Given the description of an element on the screen output the (x, y) to click on. 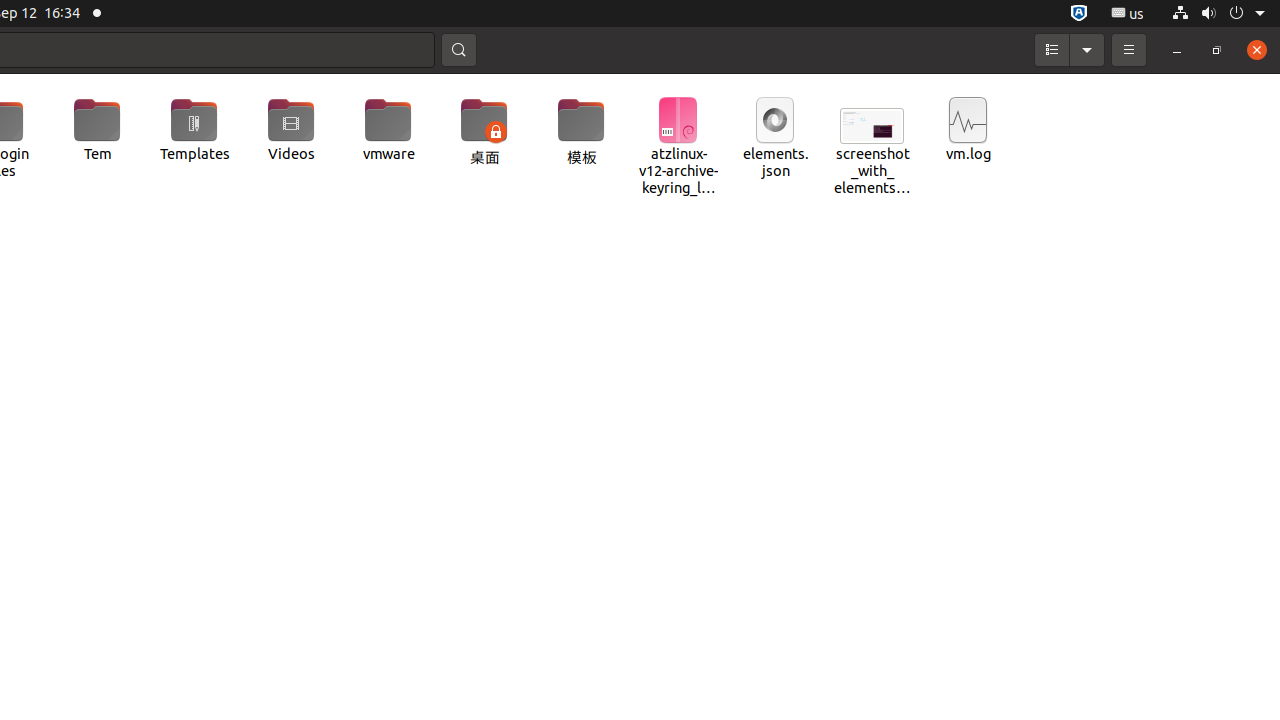
Close Element type: push-button (1257, 50)
